Given the description of an element on the screen output the (x, y) to click on. 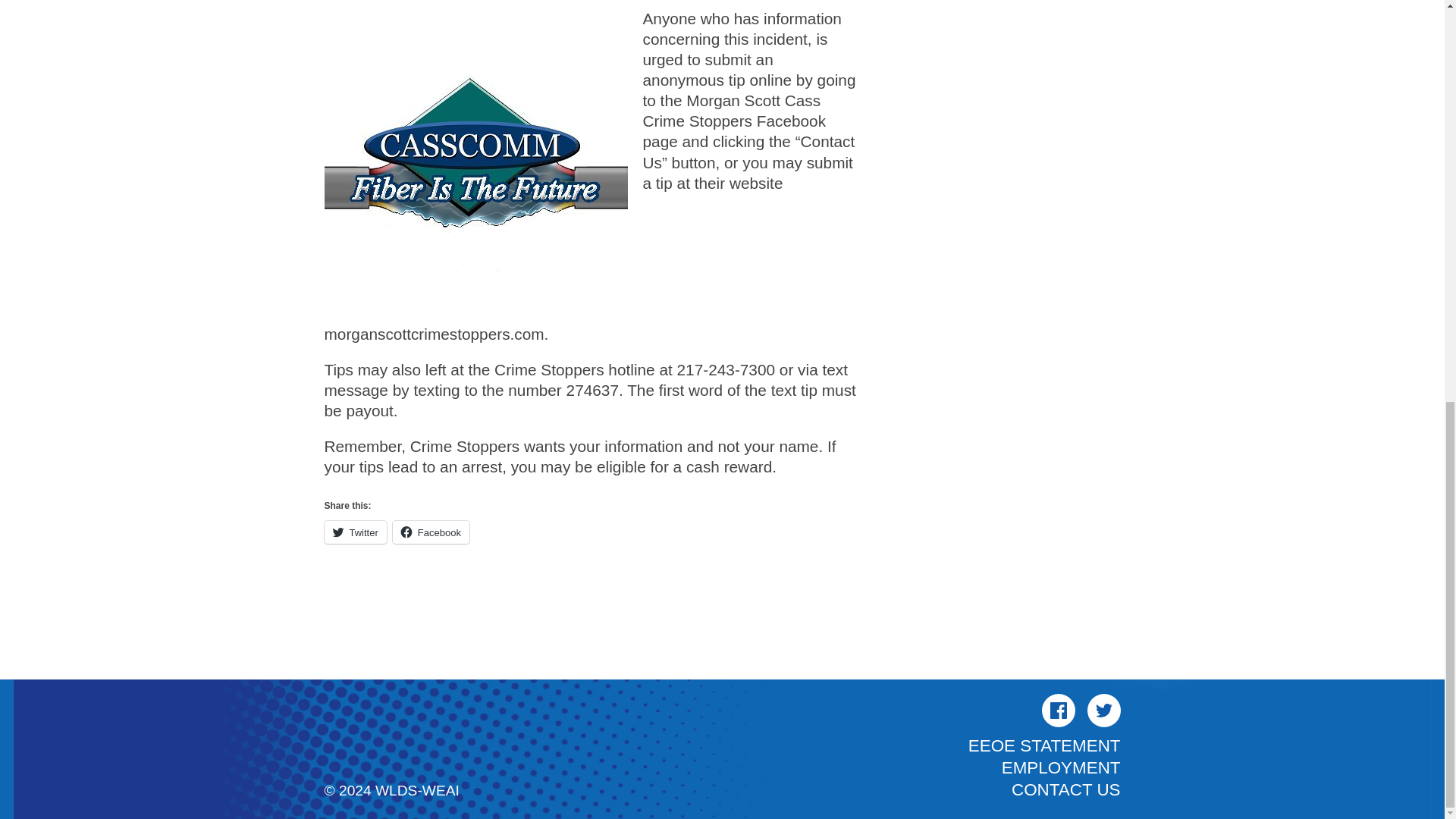
Facebook (430, 531)
CONTACT US (1065, 789)
EMPLOYMENT (1061, 767)
EEOE STATEMENT (1044, 745)
Click to share on Facebook (430, 531)
Twitter (355, 531)
Twitter (1104, 710)
Click to share on Twitter (355, 531)
Facebook (1058, 710)
